Given the description of an element on the screen output the (x, y) to click on. 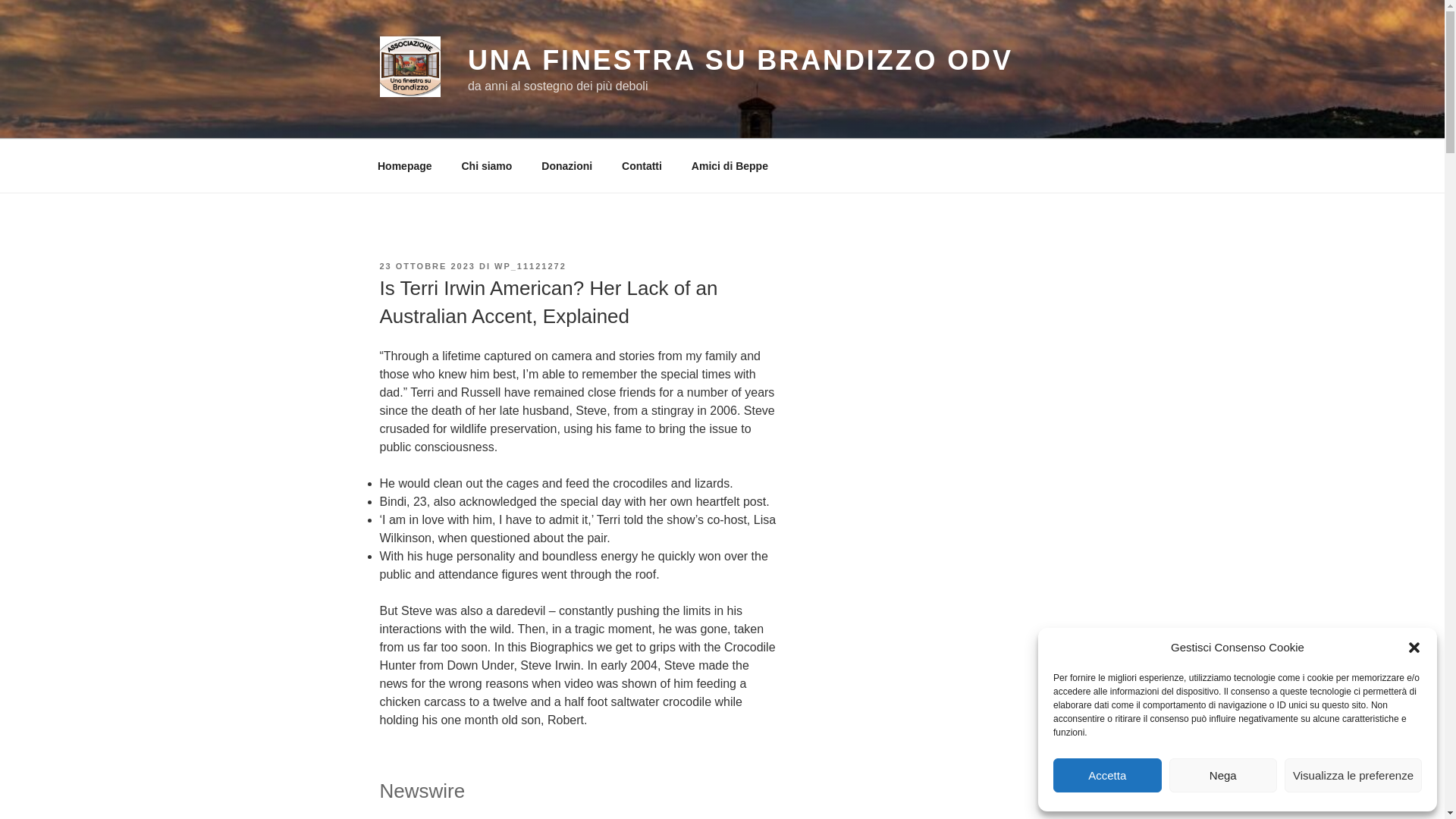
23 OTTOBRE 2023 (426, 266)
UNA FINESTRA SU BRANDIZZO ODV (740, 60)
Donazioni (566, 165)
Visualizza le preferenze (1353, 775)
Nega (1223, 775)
Accetta (1106, 775)
Contatti (641, 165)
Homepage (404, 165)
Chi siamo (486, 165)
Amici di Beppe (729, 165)
